Given the description of an element on the screen output the (x, y) to click on. 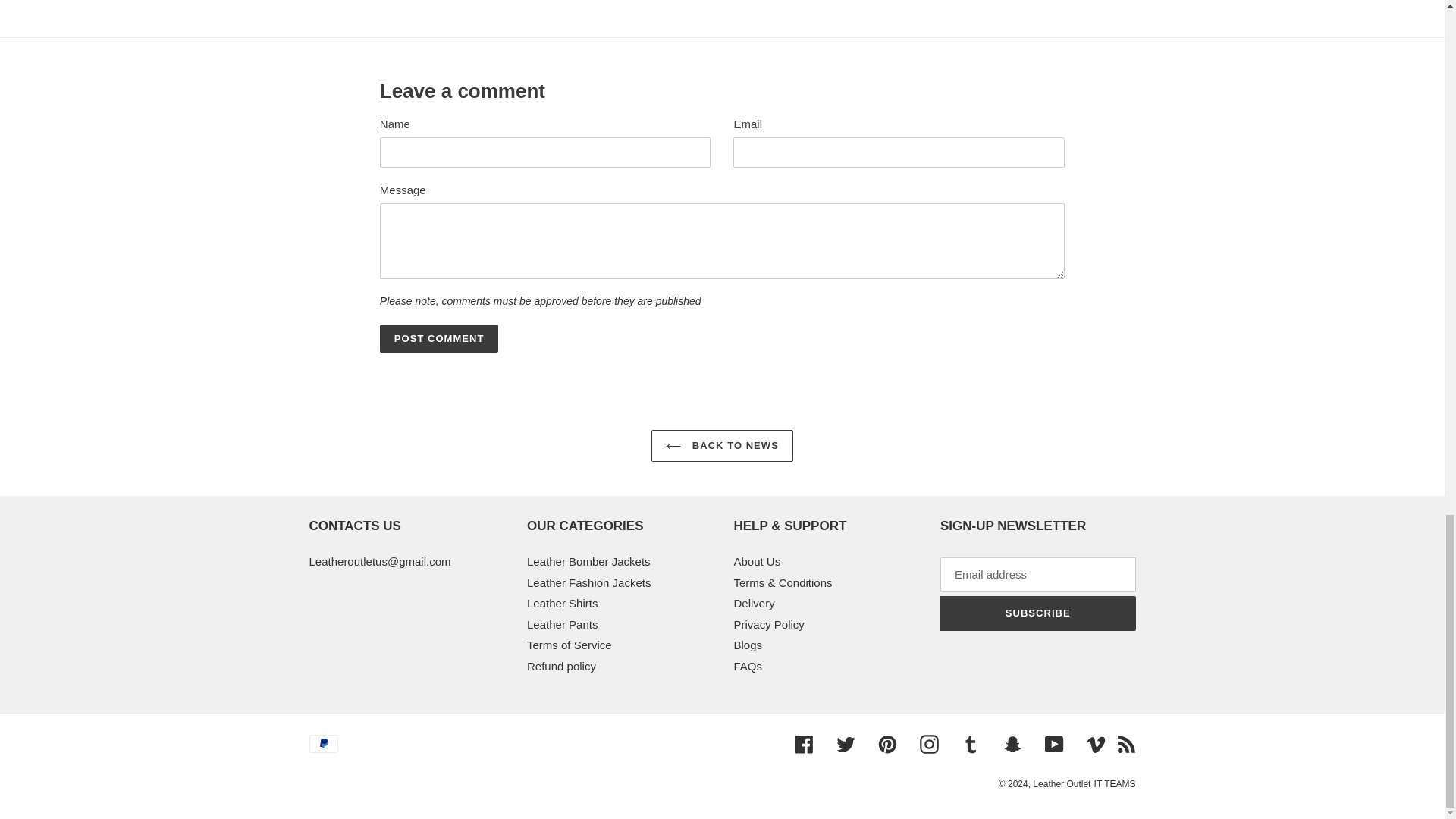
Post comment (439, 338)
